Given the description of an element on the screen output the (x, y) to click on. 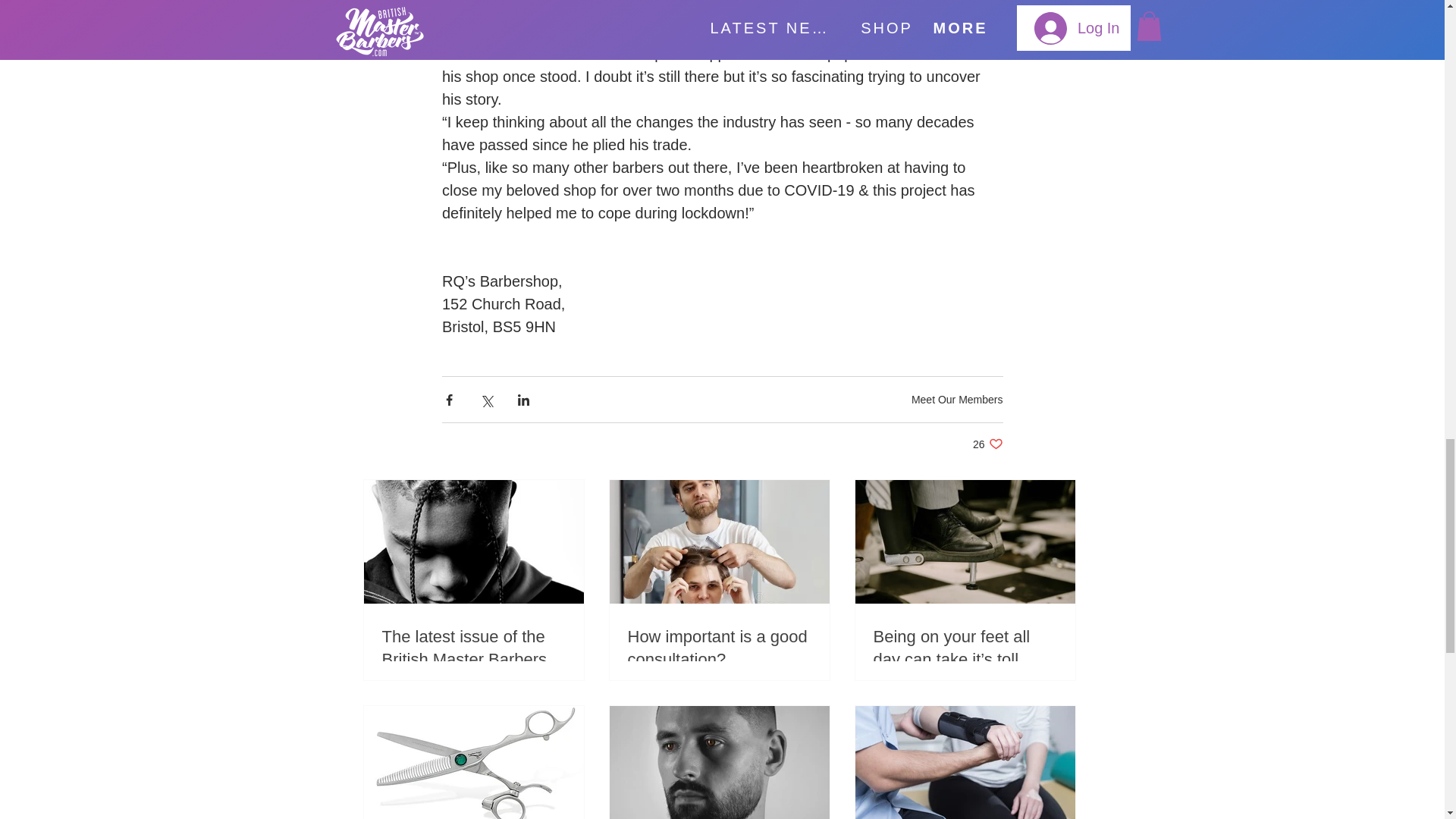
How important is a good consultation? (718, 648)
Meet Our Members (987, 443)
